Given the description of an element on the screen output the (x, y) to click on. 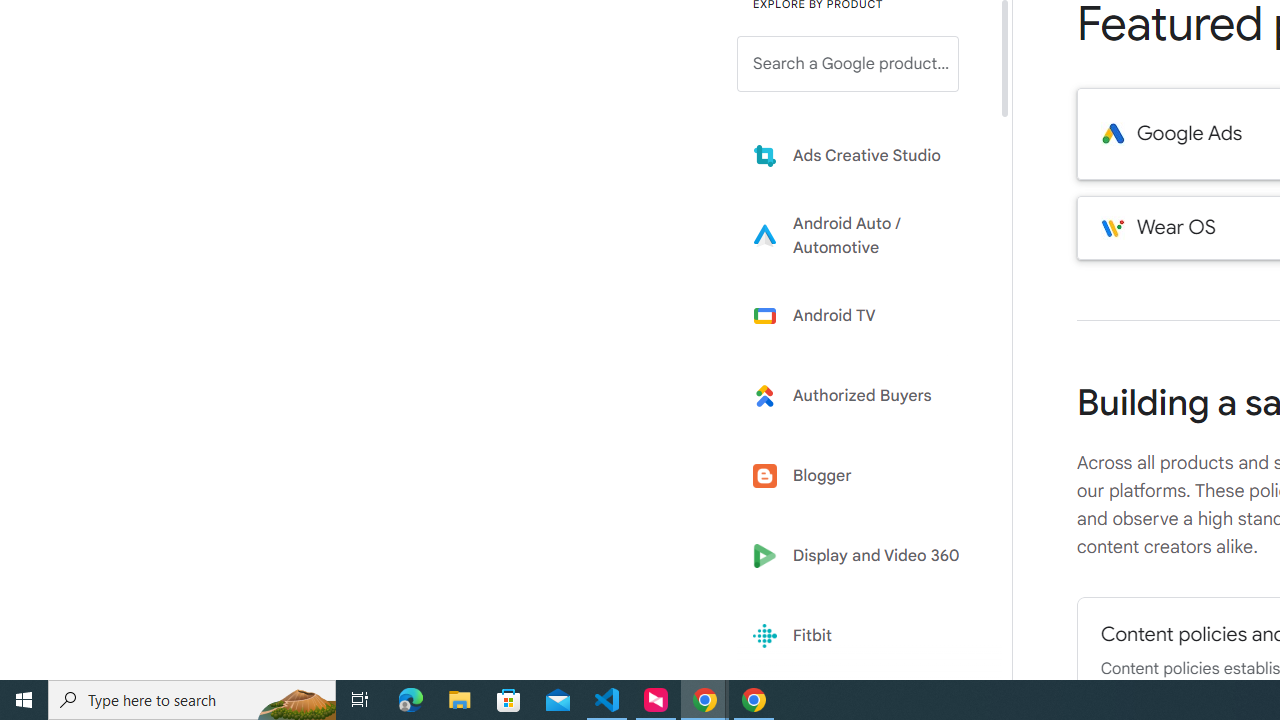
Learn more about Ads Creative Studio (862, 155)
Learn more about Android Auto (862, 235)
Learn more about Android TV (862, 315)
Fitbit (862, 636)
Blogger (862, 476)
Learn more about Ads Creative Studio (862, 155)
Blogger (862, 476)
Learn more about Android Auto (862, 235)
Display and Video 360 (862, 556)
Learn more about Android TV (862, 315)
Learn more about Authorized Buyers (862, 395)
Display and Video 360 (862, 556)
Search a Google product from below list. (847, 64)
Fitbit (862, 636)
Learn more about Authorized Buyers (862, 395)
